Given the description of an element on the screen output the (x, y) to click on. 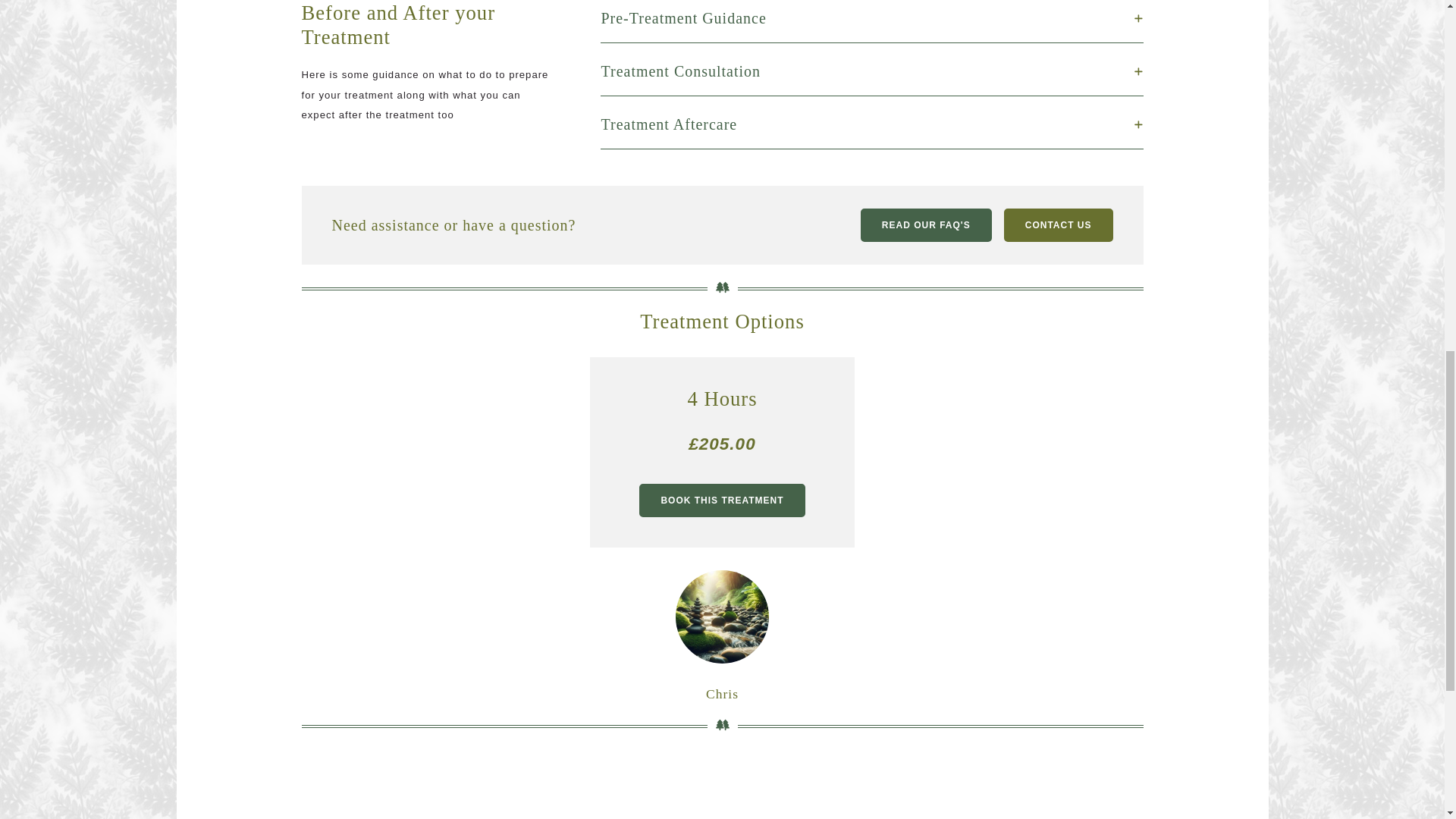
Pre-Treatment Guidance (870, 18)
Treatment Aftercare (870, 123)
CONTACT US (1058, 224)
Treatment Consultation (870, 70)
BOOK THIS TREATMENT (722, 500)
READ OUR FAQ'S (925, 224)
